Given the description of an element on the screen output the (x, y) to click on. 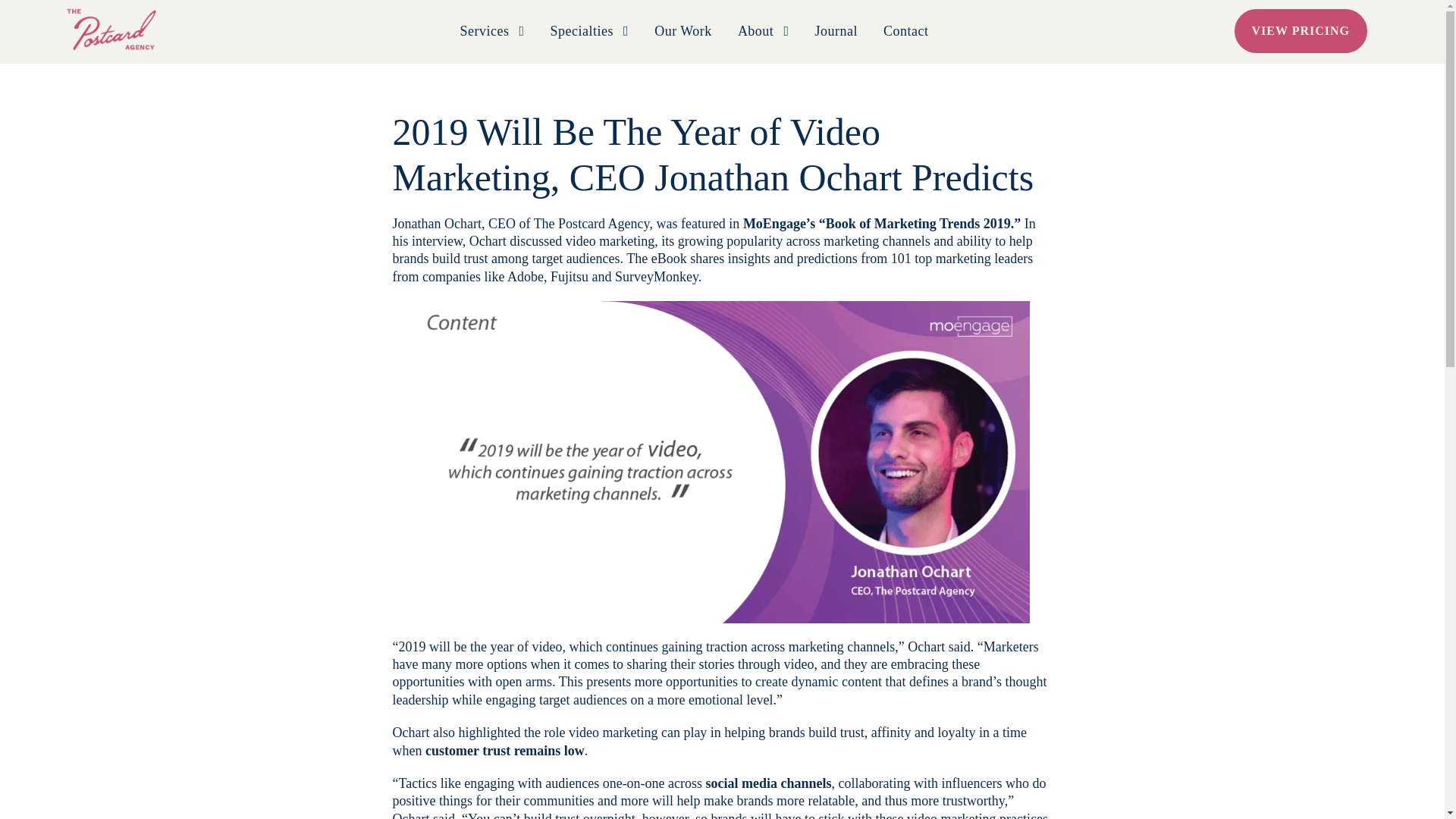
Our Work (682, 41)
VIEW PRICING (1301, 31)
Contact (905, 41)
customer trust remains low (505, 750)
Services (492, 41)
About (763, 41)
Specialties (589, 41)
social media channels (768, 783)
Journal (835, 41)
